Given the description of an element on the screen output the (x, y) to click on. 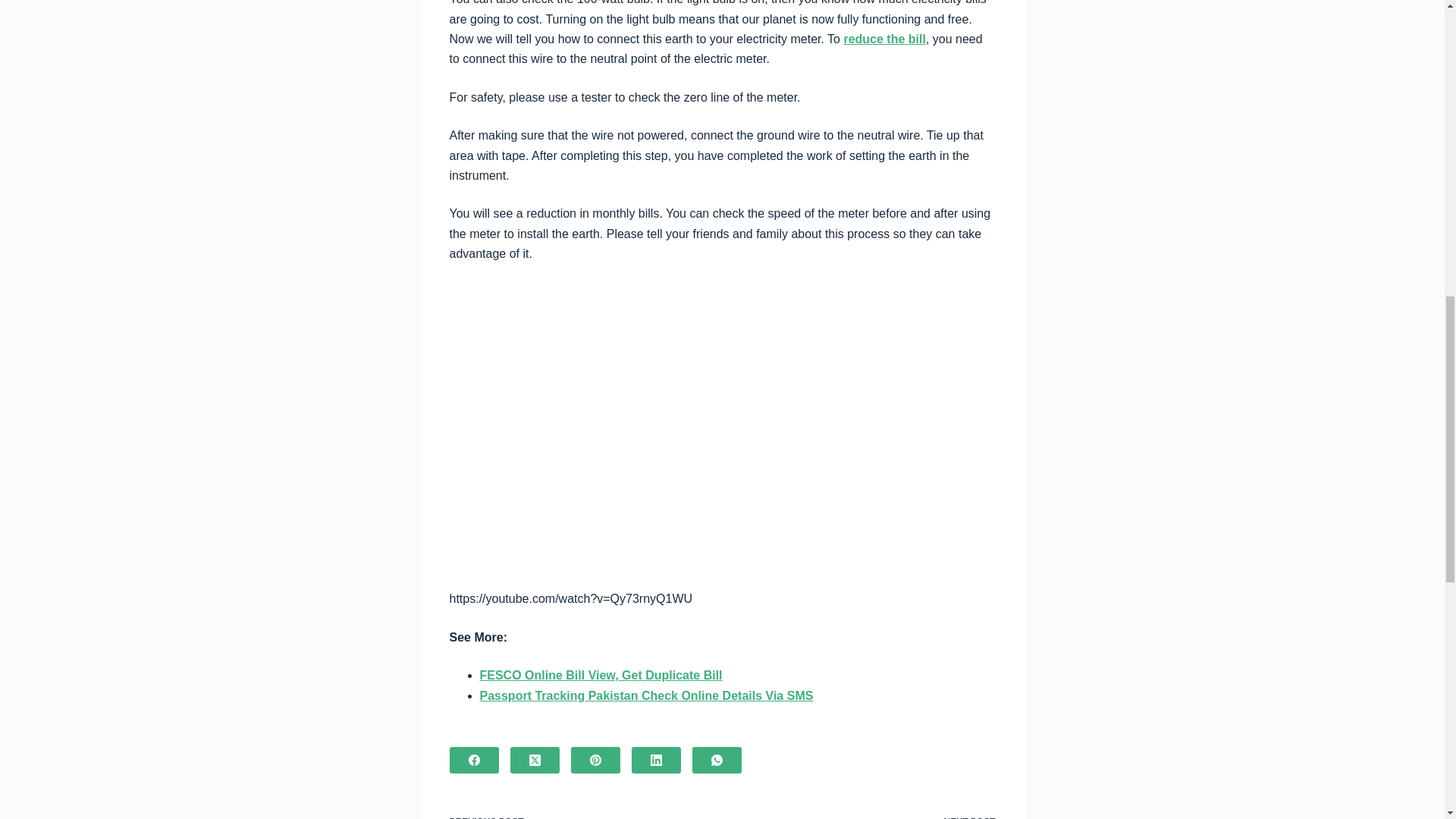
Passport Tracking Pakistan Check Online Details Via SMS (645, 695)
reduce the bill (869, 815)
FESCO Online Bill View, Get Duplicate Bill (883, 38)
